Given the description of an element on the screen output the (x, y) to click on. 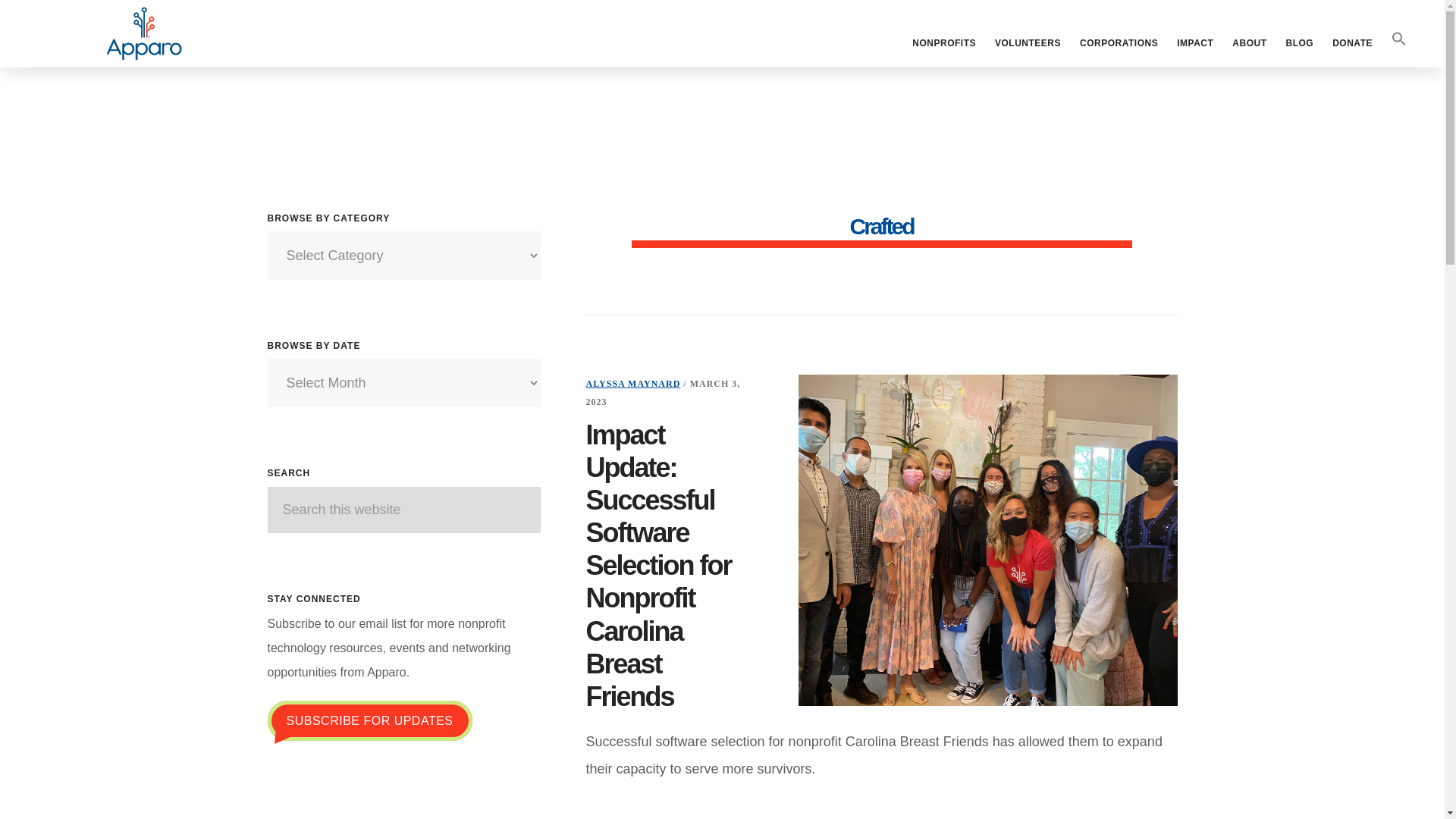
NONPROFITS (944, 43)
CORPORATIONS (1118, 43)
VOLUNTEERS (1027, 43)
APPARO (143, 32)
Search (562, 505)
IMPACT (1195, 43)
Search (562, 505)
